Given the description of an element on the screen output the (x, y) to click on. 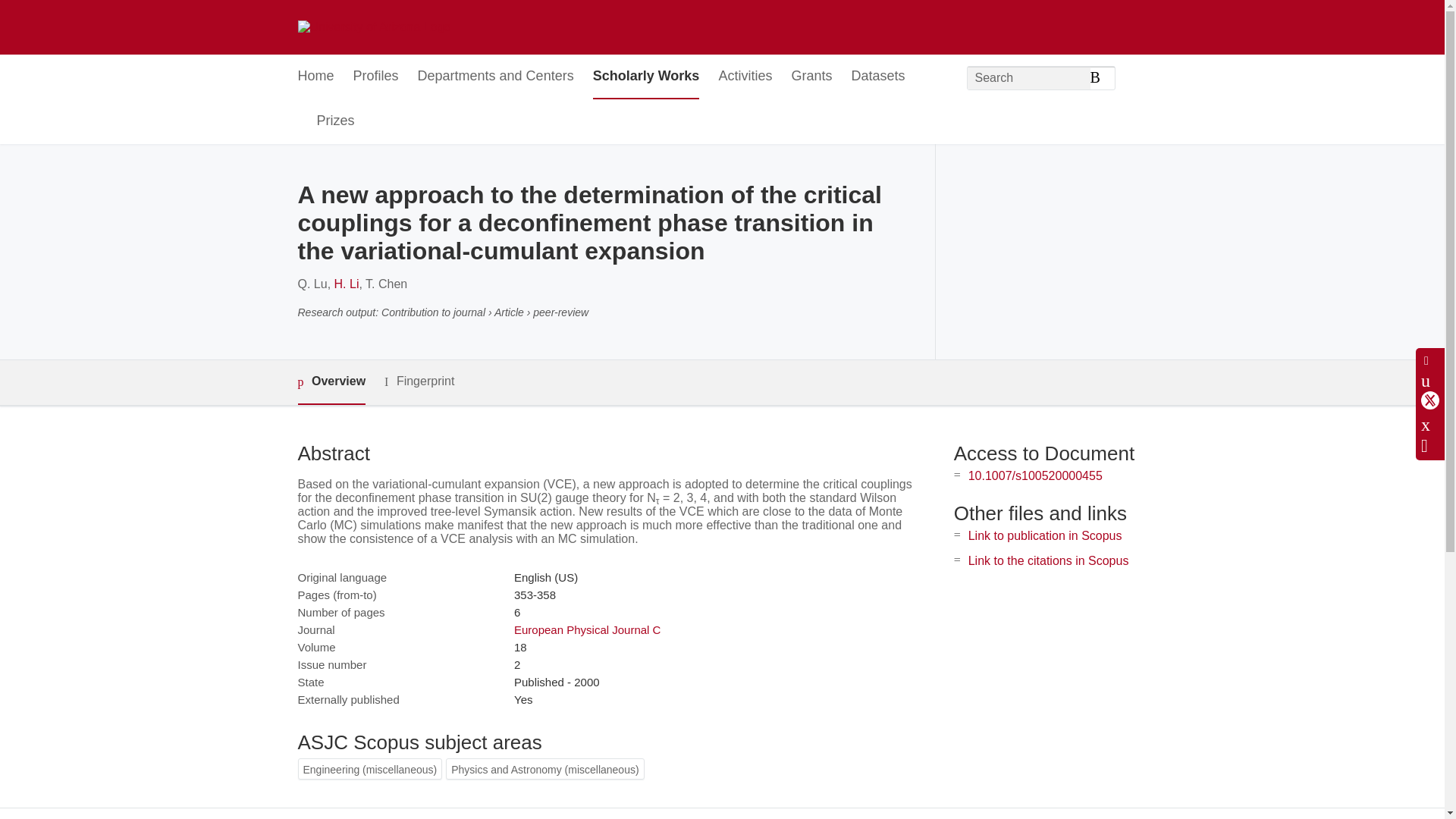
Link to the citations in Scopus (1048, 560)
Scholarly Works (646, 76)
Profiles (375, 76)
Fingerprint (419, 381)
Overview (331, 382)
Departments and Centers (495, 76)
University of Arizona Home (373, 27)
Link to publication in Scopus (1045, 535)
European Physical Journal C (587, 629)
